Given the description of an element on the screen output the (x, y) to click on. 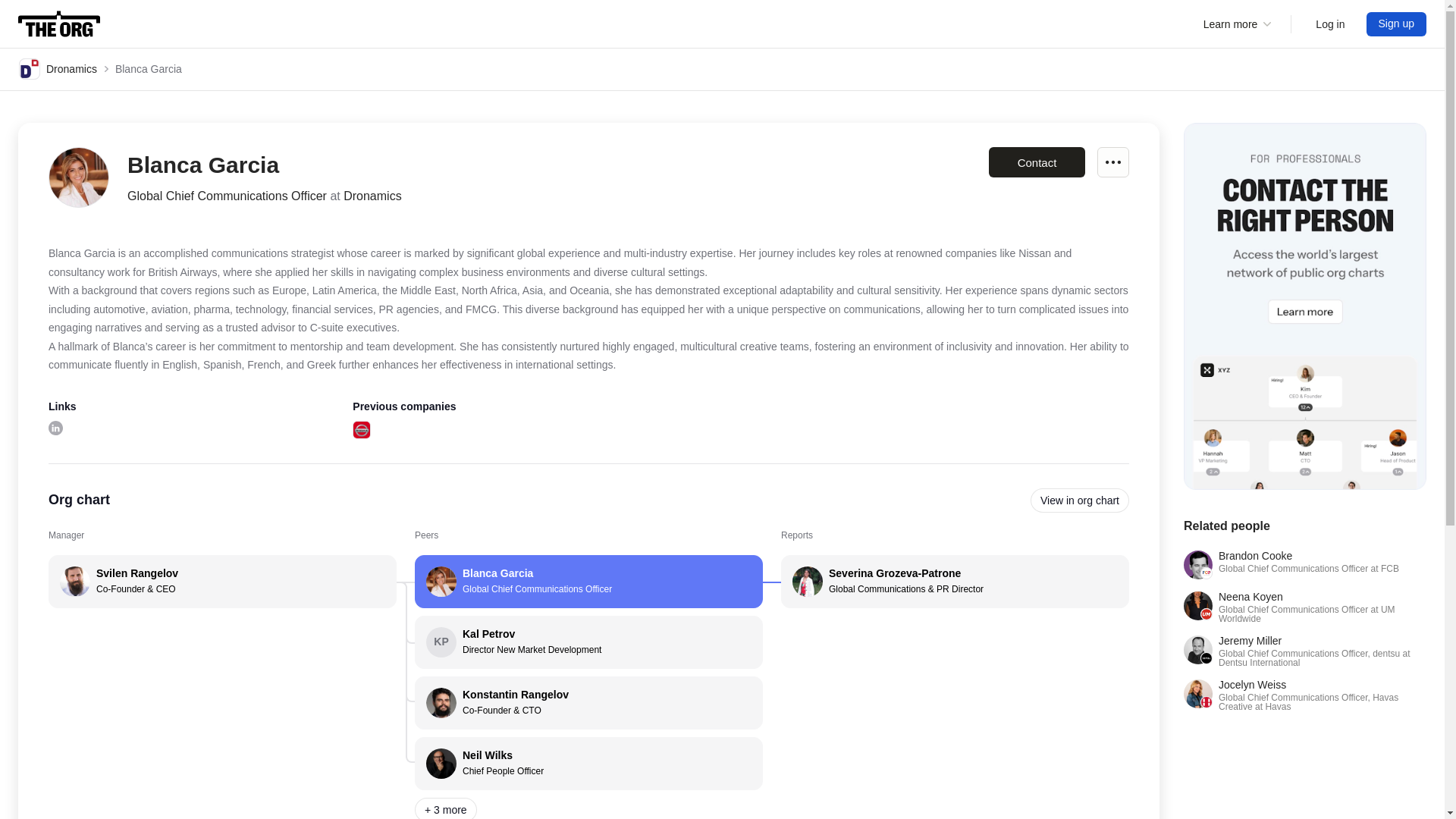
Sign up to The Org (1396, 24)
Dronamics (1304, 564)
Sign up (57, 68)
The Org Home (1396, 24)
Nissan (58, 23)
View in org chart (361, 429)
Log in to The Org (1079, 500)
Join, edit and report menu (1329, 24)
Log in (1113, 162)
Learn more (1329, 24)
